Given the description of an element on the screen output the (x, y) to click on. 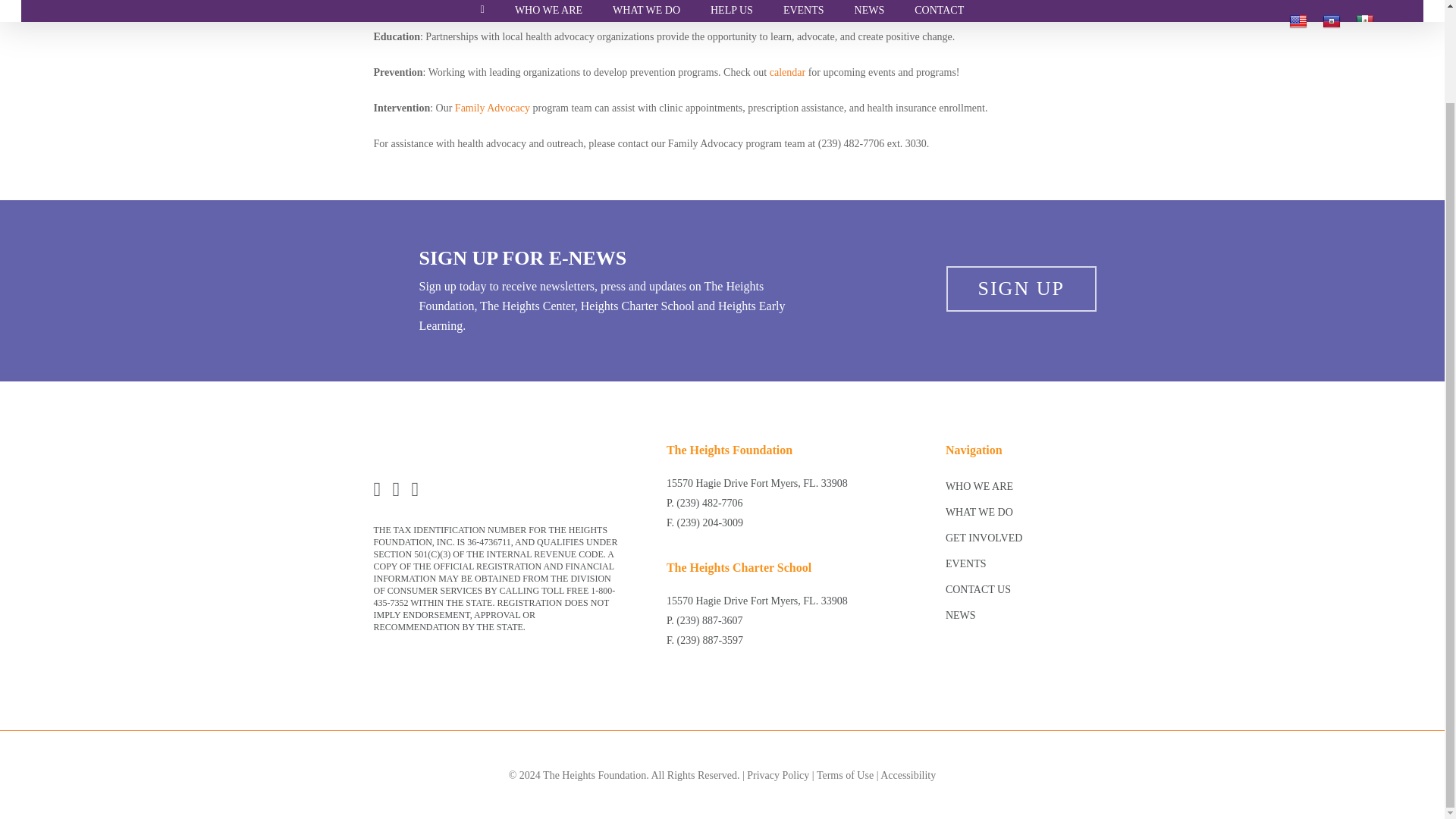
English (1297, 21)
EVENTS (804, 11)
NEWS (869, 11)
WHO WE ARE (547, 11)
Spanish (1364, 21)
Haitian (1331, 21)
CONTACT (938, 11)
HELP US (731, 11)
WHAT WE DO (645, 11)
